Given the description of an element on the screen output the (x, y) to click on. 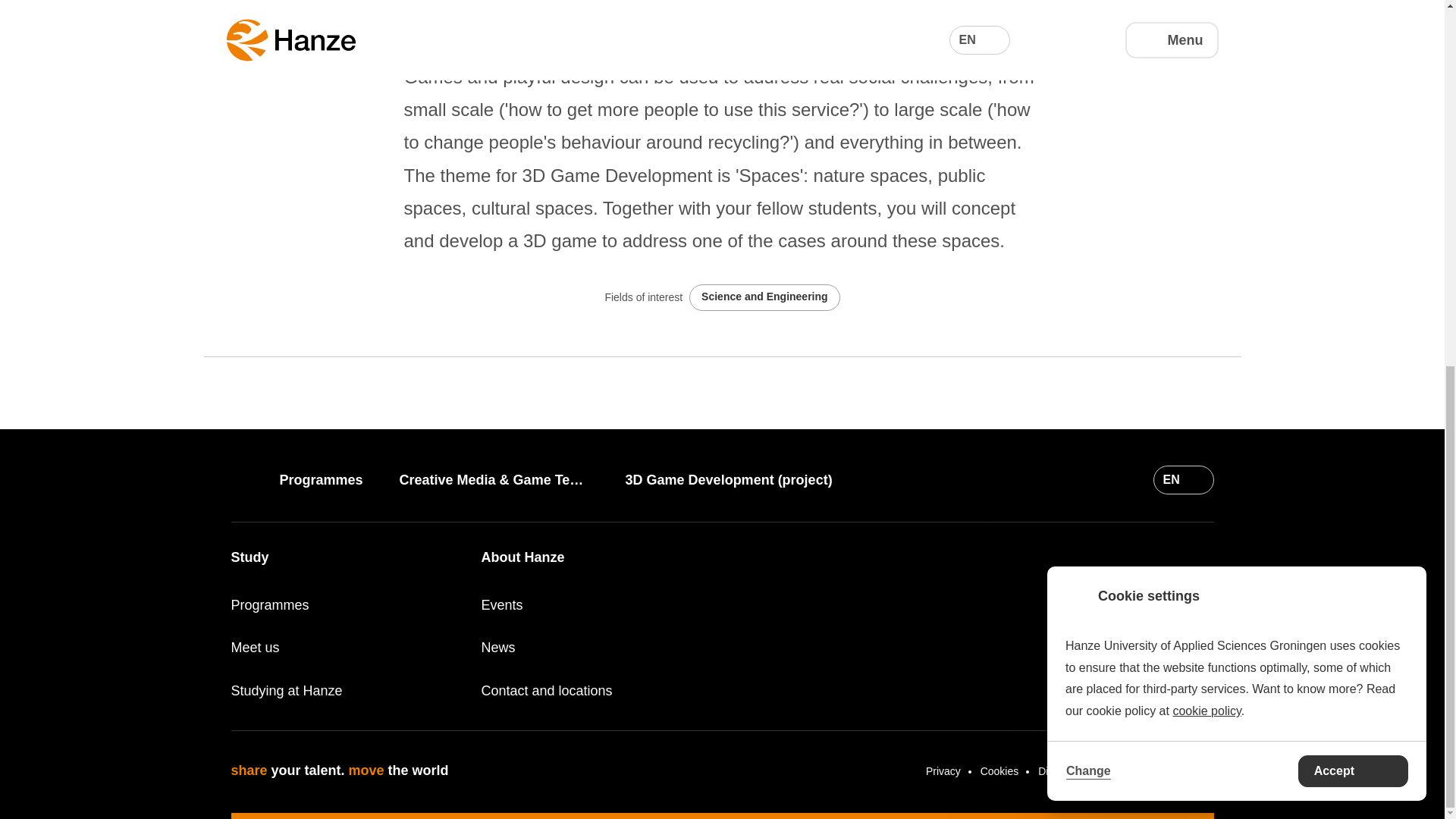
Programmes (332, 479)
Programmes (346, 604)
Study (248, 557)
EN (1182, 480)
Studying at Hanze (346, 690)
Meet us (346, 647)
